Given the description of an element on the screen output the (x, y) to click on. 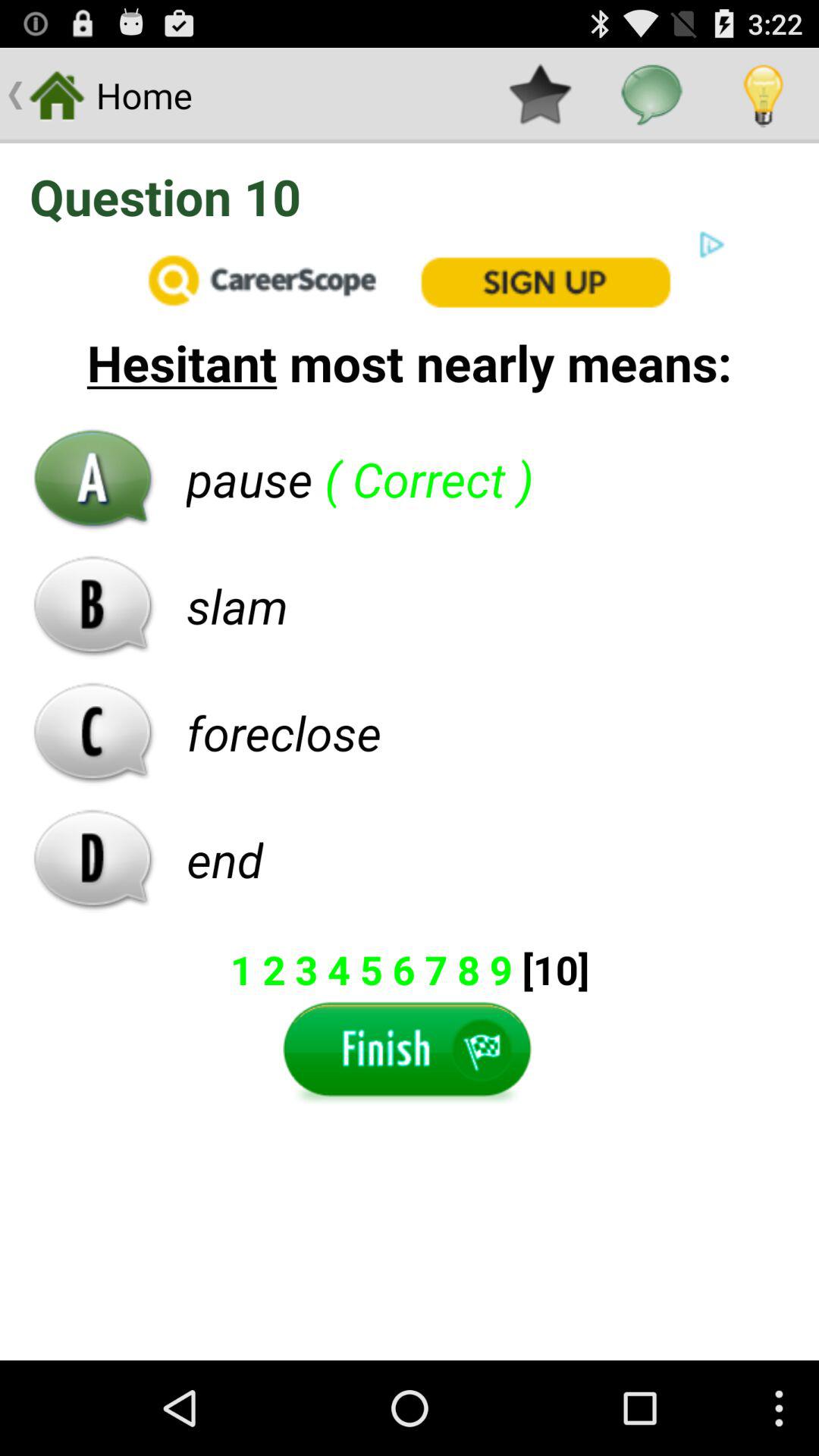
click on star symbol (540, 95)
select a message icon (651, 95)
select a finish button on a page (409, 1055)
click on the b message image to the left of slam (93, 606)
click on c (93, 732)
select option d (93, 859)
